Given the description of an element on the screen output the (x, y) to click on. 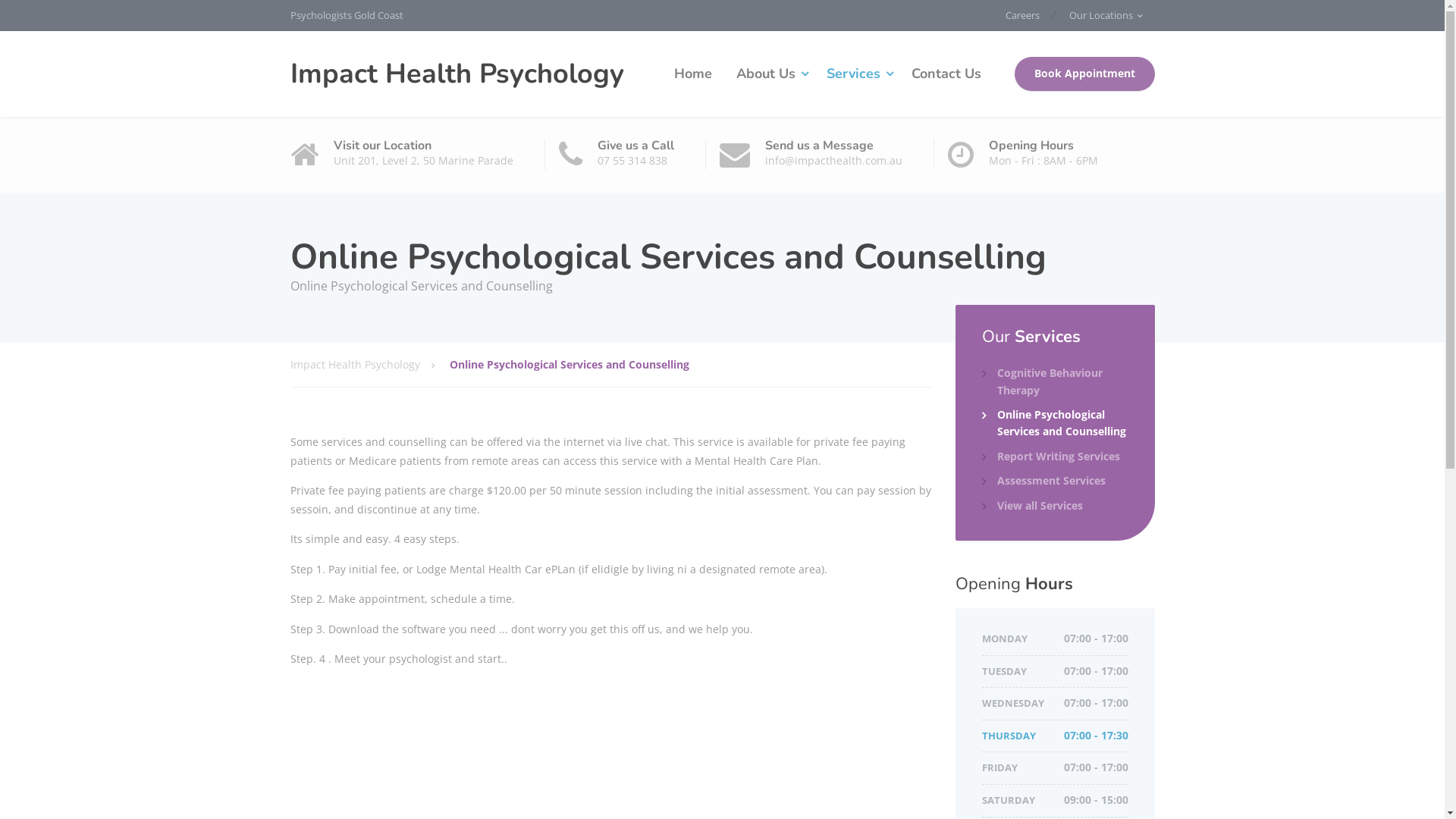
Online Psychological Services and Counselling Element type: text (1055, 423)
View all Services Element type: text (1032, 505)
Book Appointment Element type: text (1084, 73)
Contact Us Element type: text (945, 73)
Our Locations Element type: text (1104, 15)
Report Writing Services Element type: text (1051, 456)
Assessment Services Element type: text (1043, 480)
Services Element type: text (856, 73)
Home Element type: text (691, 73)
Cognitive Behaviour Therapy Element type: text (1055, 381)
Impact Health Psychology Element type: text (368, 364)
About Us Element type: text (768, 73)
Impact Health Psychology Element type: text (456, 73)
Careers Element type: text (1029, 15)
